Given the description of an element on the screen output the (x, y) to click on. 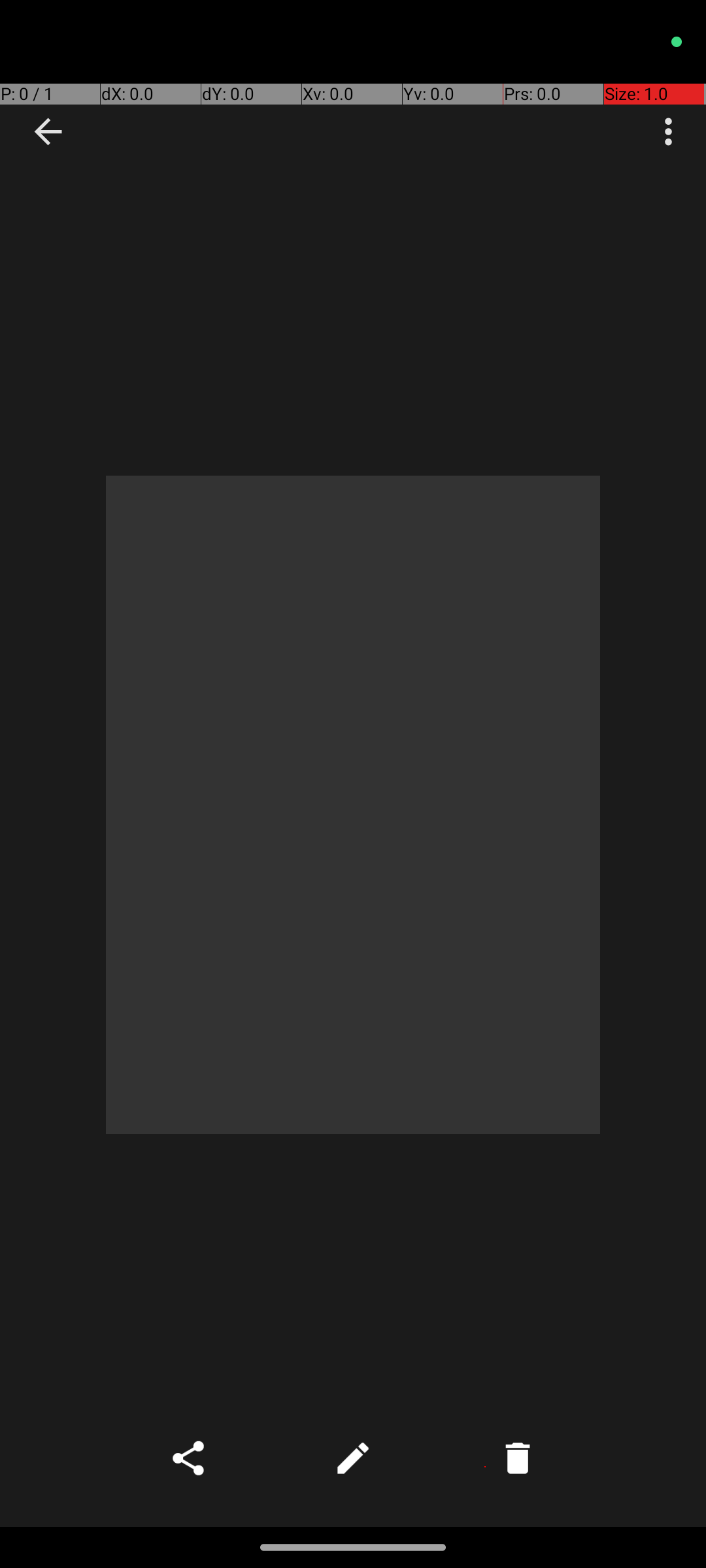
Edit Element type: android.widget.ImageButton (352, 1458)
Delete Element type: android.widget.ImageButton (517, 1458)
Navigate up Element type: android.widget.ImageButton (48, 131)
Photo taken on Oct 15, 2023 15:34:17 Element type: android.widget.ImageView (352, 804)
